Given the description of an element on the screen output the (x, y) to click on. 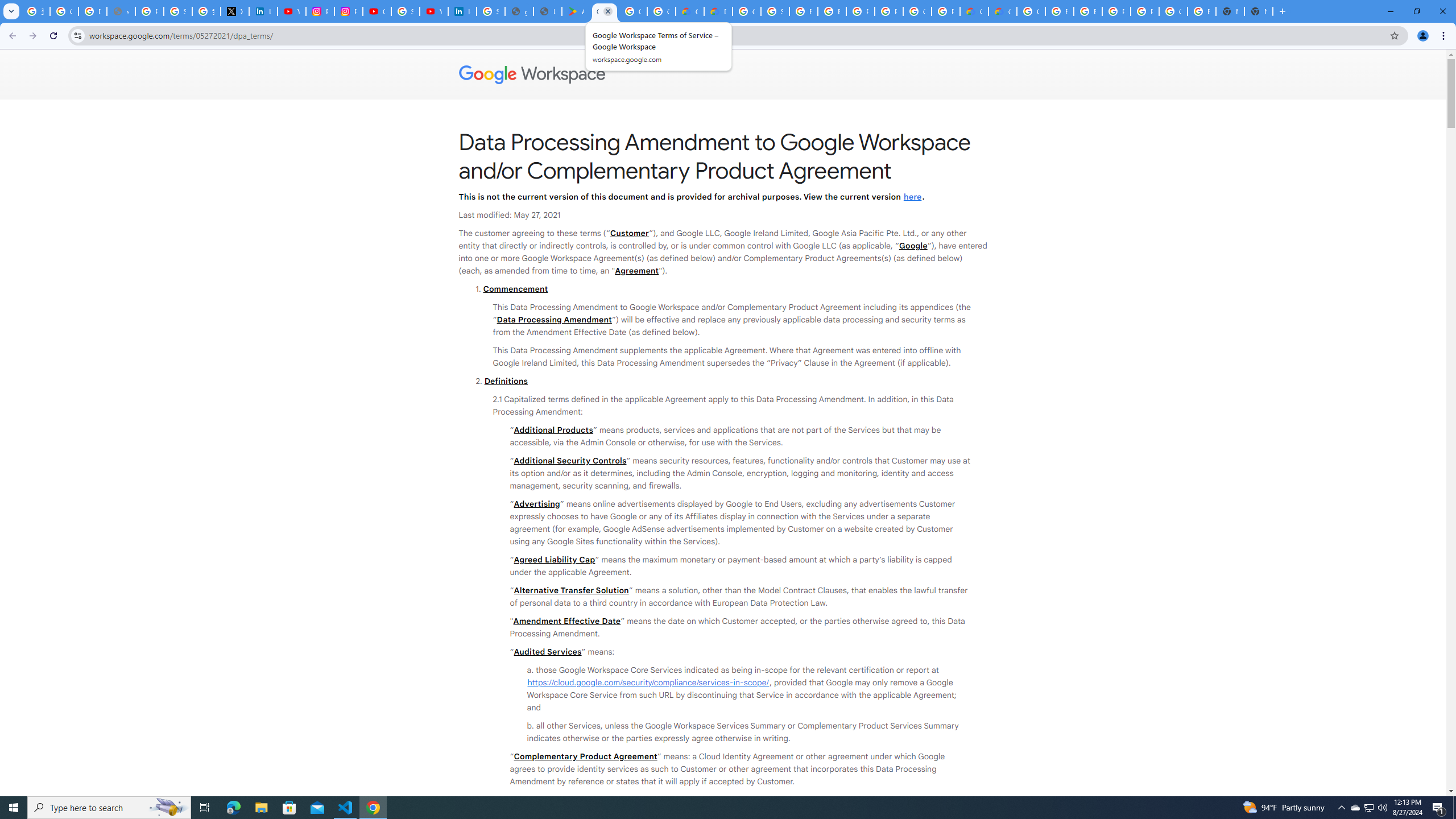
Customer Care | Google Cloud (973, 11)
Google Cloud Platform (1173, 11)
New Tab (1258, 11)
Android Apps on Google Play (575, 11)
Google Cloud Platform (917, 11)
Privacy Help Center - Policies Help (148, 11)
